Given the description of an element on the screen output the (x, y) to click on. 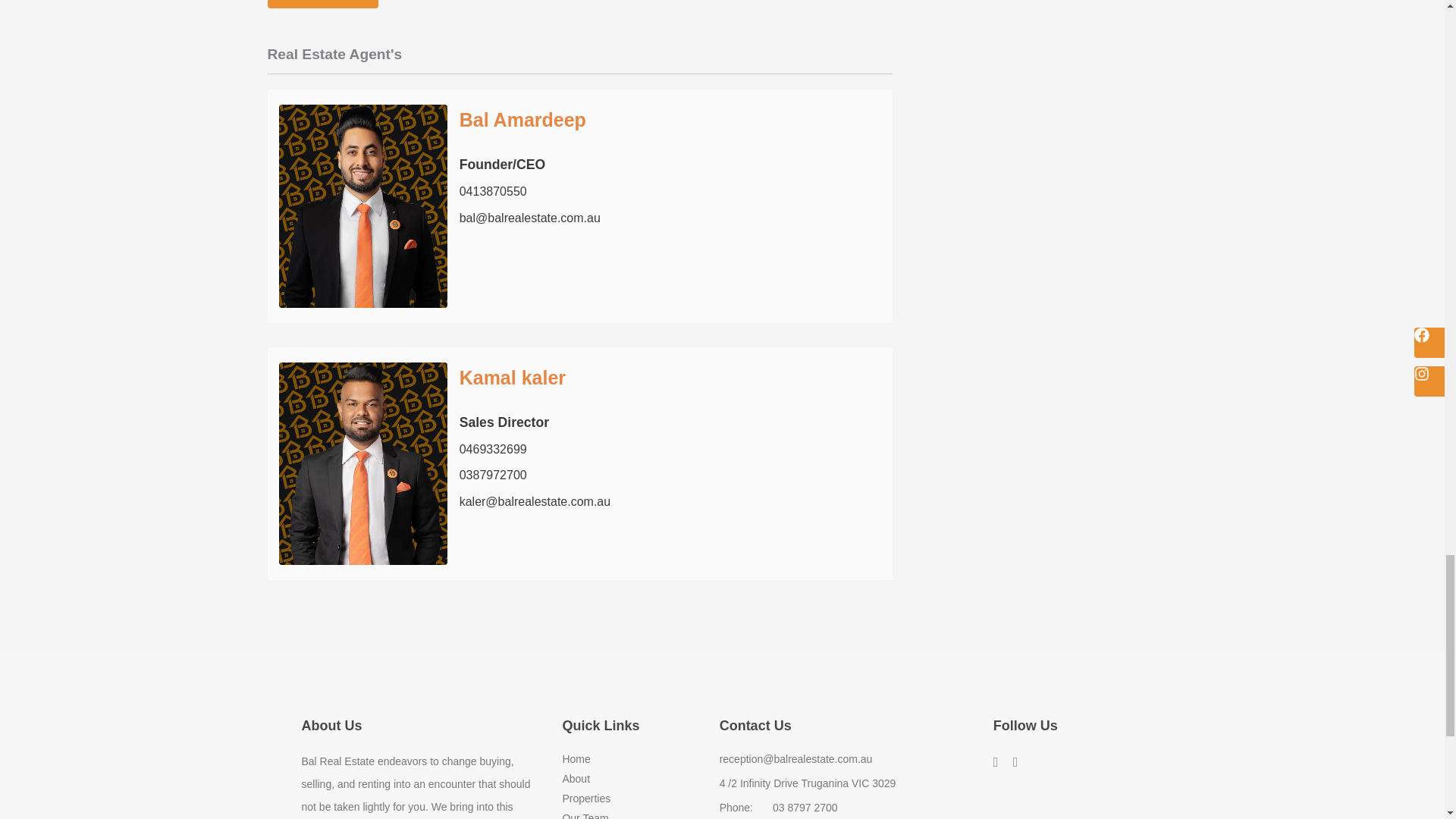
Download PDF (322, 4)
Kamal kaler (513, 377)
0413870550 (493, 191)
0387972700 (493, 474)
0469332699 (493, 449)
Bal Amardeep (523, 119)
